Given the description of an element on the screen output the (x, y) to click on. 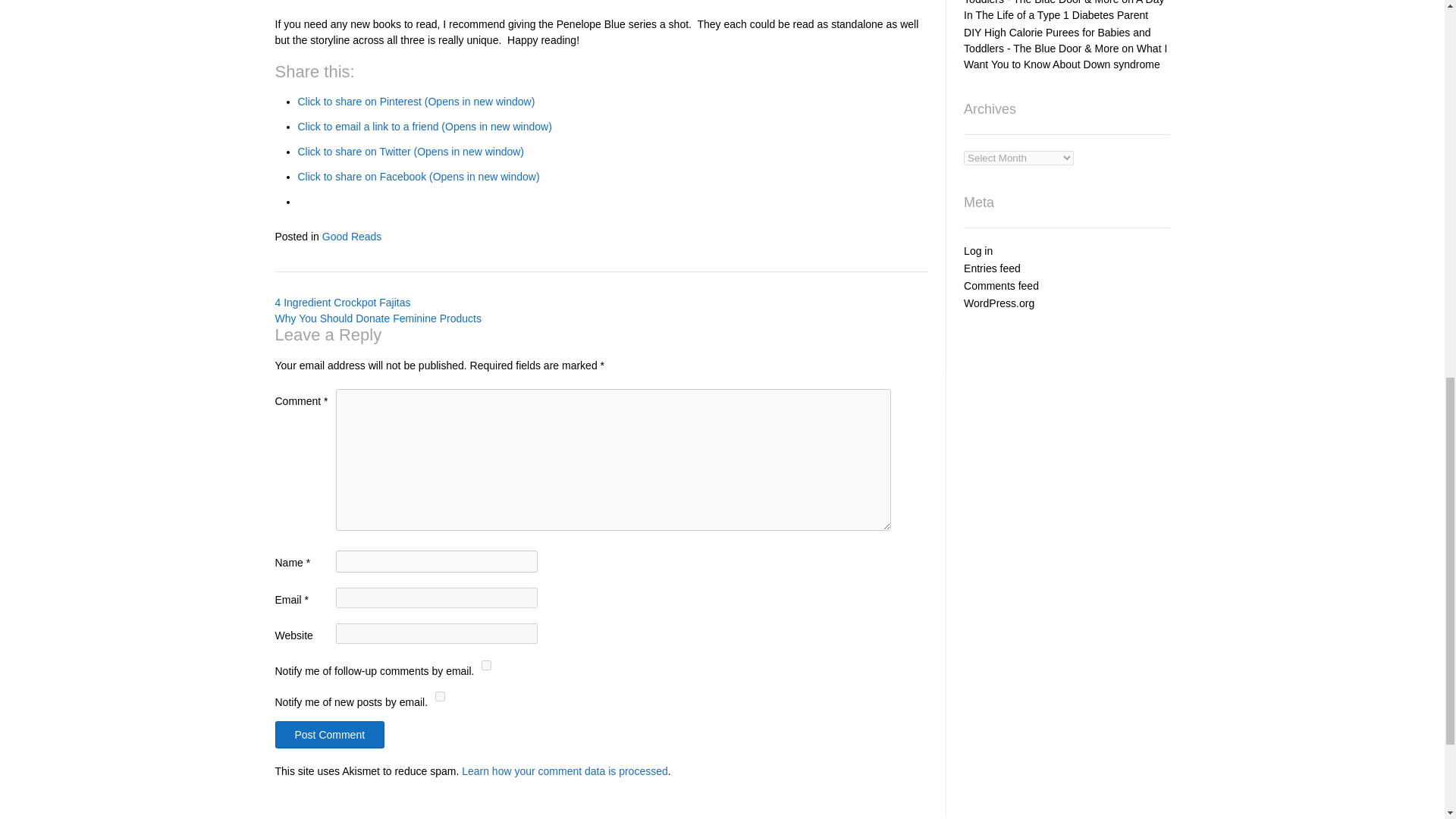
subscribe (486, 665)
subscribe (440, 696)
Good Reads (351, 236)
4 Ingredient Crockpot Fajitas (342, 302)
Click to share on Pinterest (415, 101)
Why You Should Donate Feminine Products (377, 318)
Post Comment (329, 734)
Post Comment (329, 734)
Click to share on Facebook (417, 176)
Learn how your comment data is processed (564, 770)
